Given the description of an element on the screen output the (x, y) to click on. 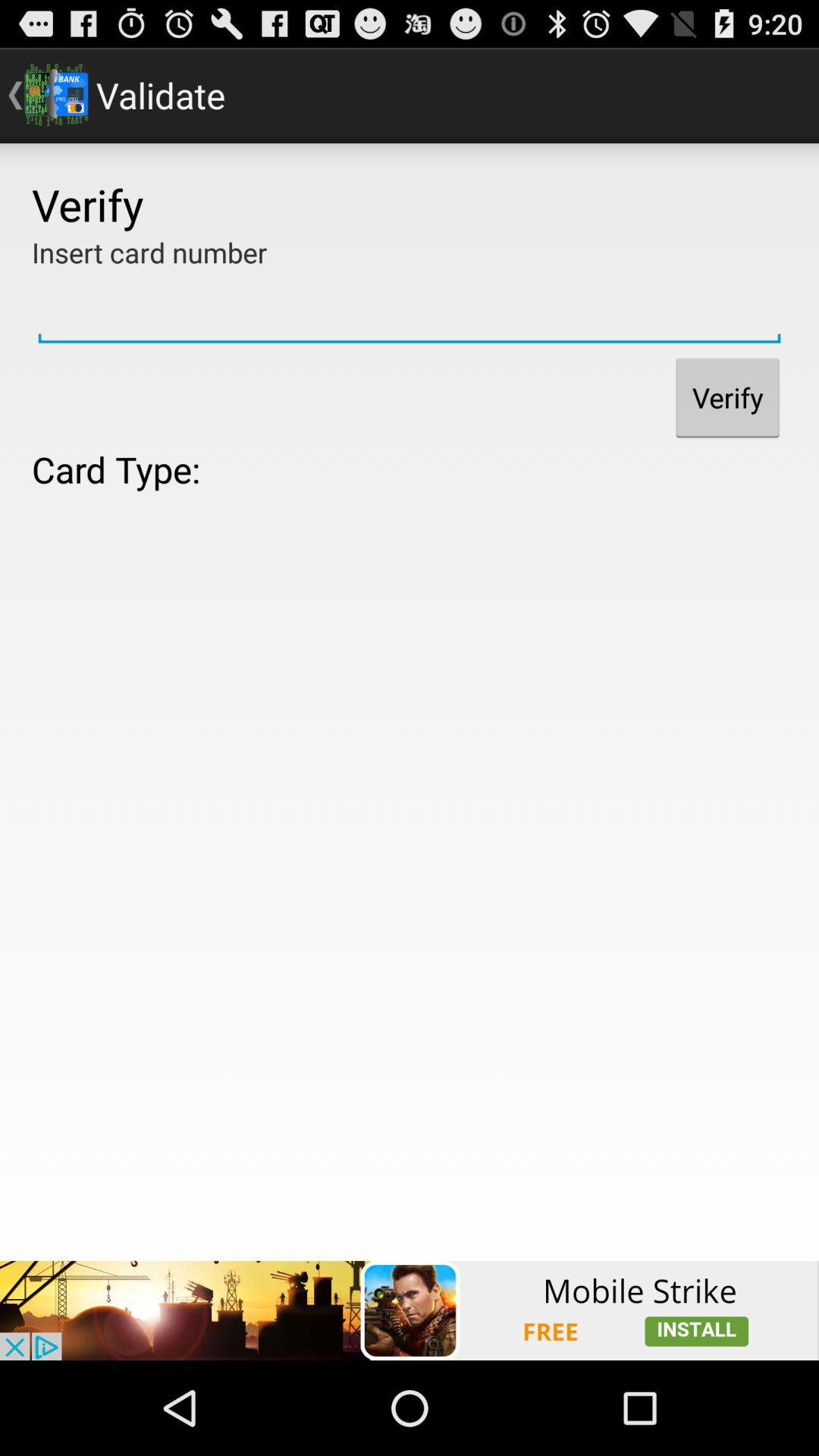
enter card number (409, 310)
